Given the description of an element on the screen output the (x, y) to click on. 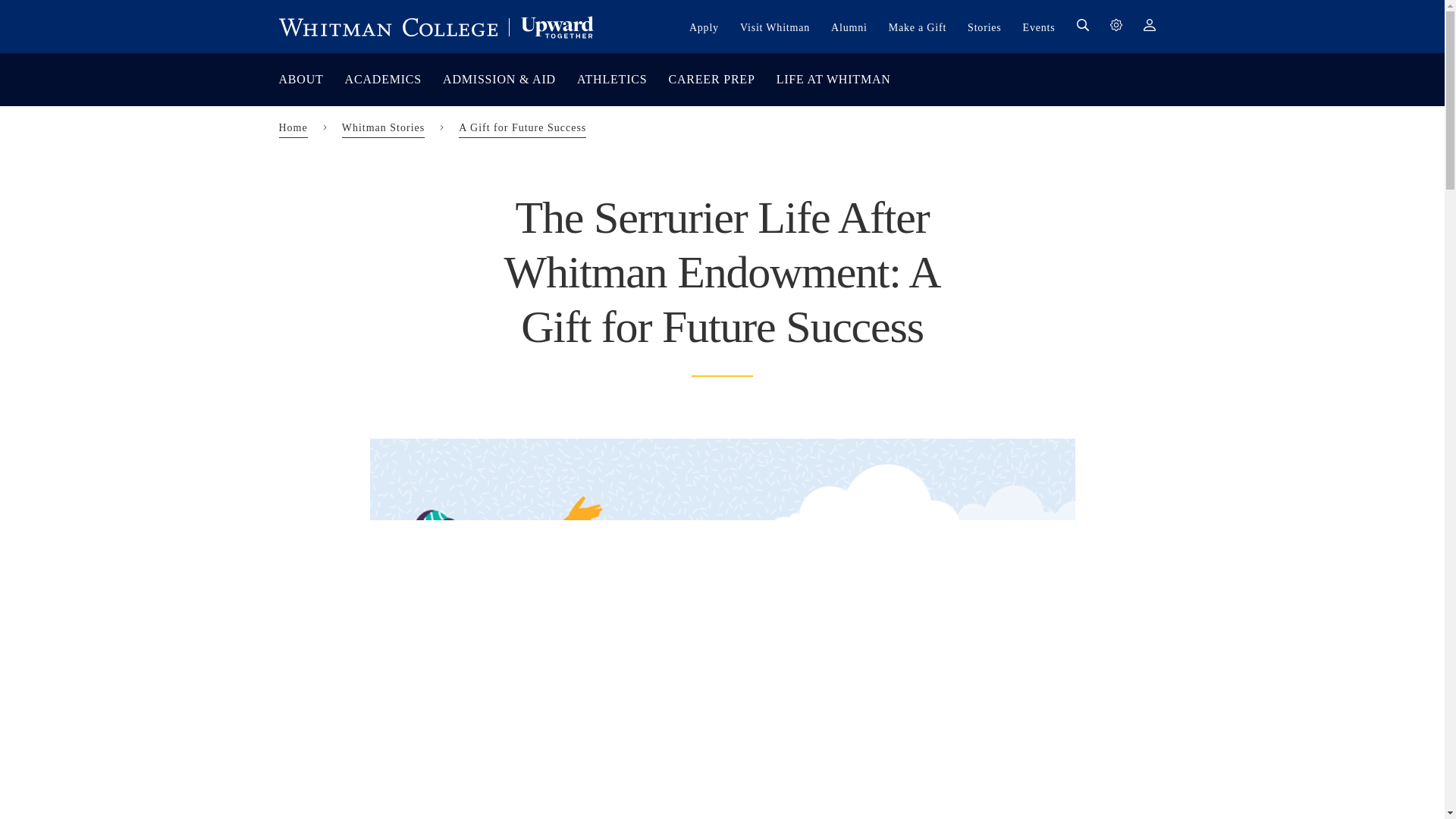
Apply (703, 27)
Alumni (849, 27)
Stories (984, 27)
Make a Gift (917, 27)
Stories (984, 27)
Alumni (849, 27)
Apply (703, 27)
Make a Gift (917, 27)
Events (1039, 27)
Visit Whitman (774, 27)
